Given the description of an element on the screen output the (x, y) to click on. 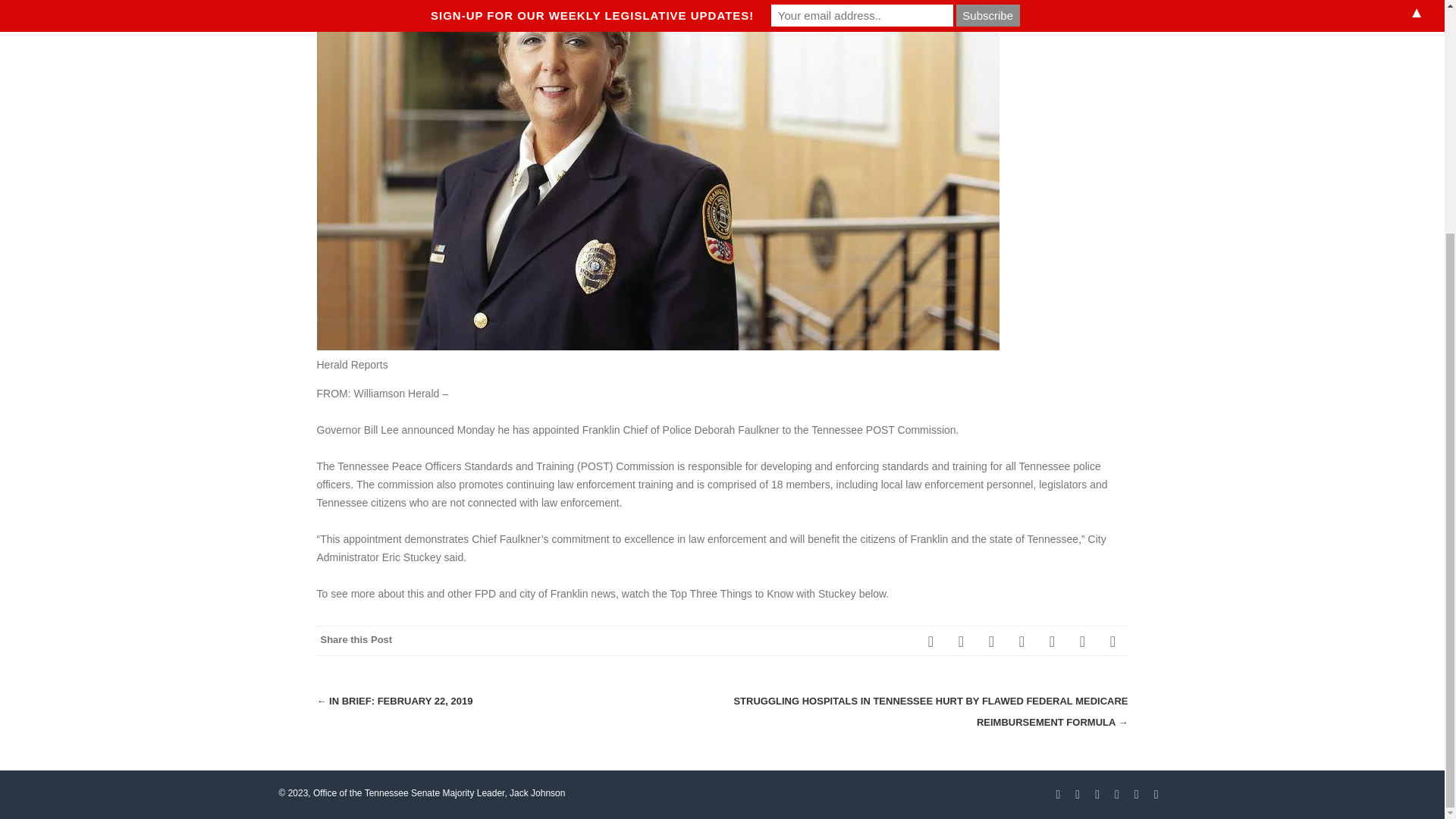
Williamson Herald (396, 393)
Herald Reports (352, 364)
